Given the description of an element on the screen output the (x, y) to click on. 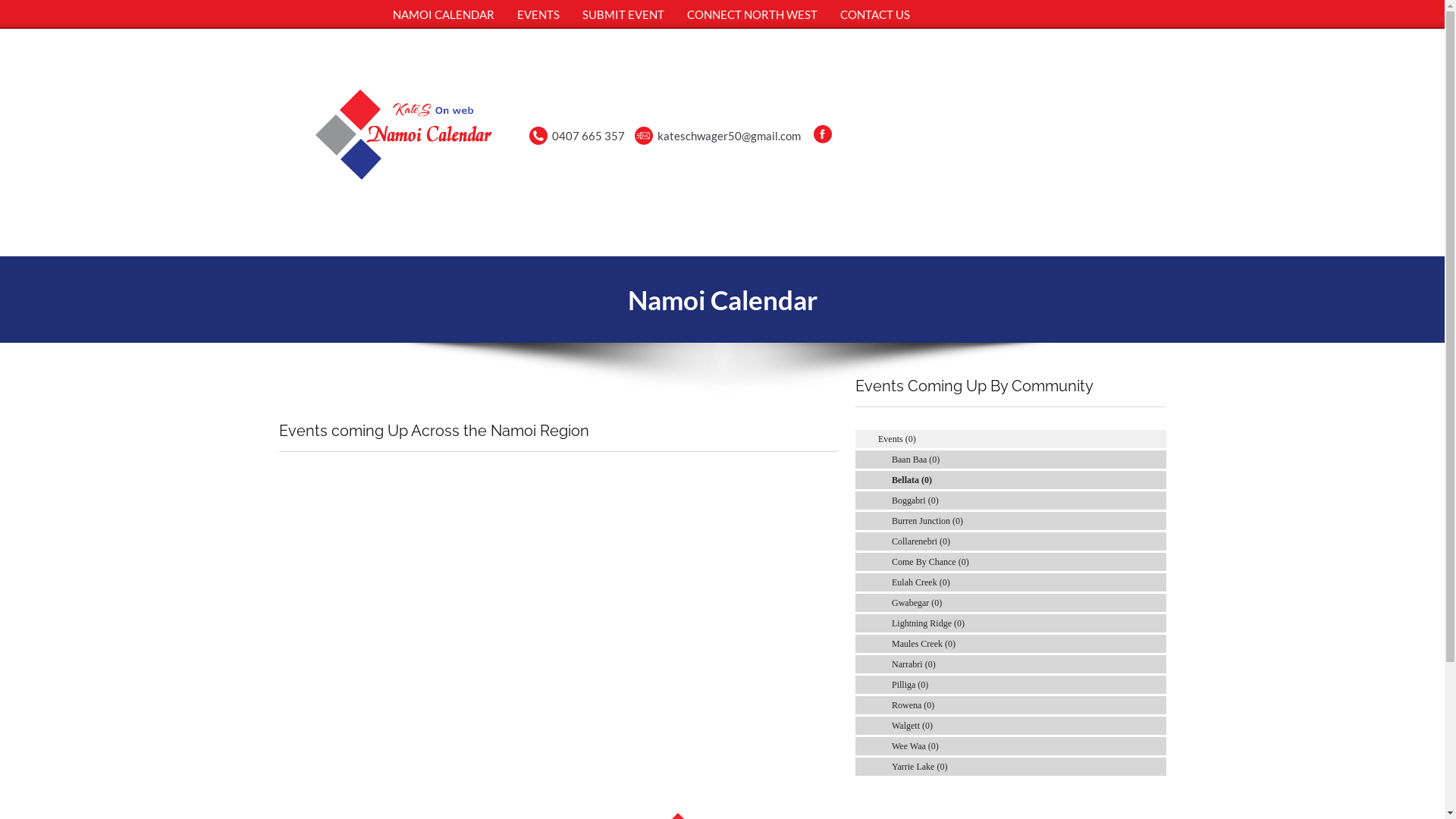
Collarenebri (0) Element type: text (920, 541)
CONTACT US Element type: text (874, 14)
RSS Element type: hover (1157, 561)
RSS Element type: hover (1157, 582)
Walgett (0) Element type: text (911, 725)
Rowena (0) Element type: text (912, 704)
Facebook Element type: hover (822, 134)
CONNECT NORTH WEST Element type: text (751, 14)
Wee Waa (0) Element type: text (914, 745)
RSS Element type: hover (1157, 520)
EVENTS Element type: text (537, 14)
Come By Chance (0) Element type: text (930, 561)
RSS Element type: hover (1157, 766)
RSS Element type: hover (1157, 479)
Burren Junction (0) Element type: text (927, 520)
SUBMIT EVENT Element type: text (622, 14)
RSS Element type: hover (1157, 459)
Gwabegar (0) Element type: text (916, 602)
NAMOI CALENDAR Element type: text (442, 14)
Baan Baa (0) Element type: text (915, 459)
Expand/Collapse Element type: hover (1142, 438)
Events (0) Element type: text (897, 438)
RSS Element type: hover (1157, 623)
RSS Element type: hover (1157, 704)
RSS Element type: hover (1157, 725)
Maules Creek (0) Element type: text (923, 643)
Bellata (0) Element type: text (911, 479)
RSS Element type: hover (1157, 663)
RSS Element type: hover (1157, 438)
0407 665 357 Element type: text (588, 135)
Boggabri (0) Element type: text (914, 500)
kateschwager50@gmail.com Element type: text (728, 135)
Lightning Ridge (0) Element type: text (927, 623)
RSS Element type: hover (1157, 684)
Eulah Creek (0) Element type: text (920, 582)
Narrabri (0) Element type: text (913, 663)
RSS Element type: hover (1157, 643)
Yarrie Lake (0) Element type: text (919, 766)
RSS Element type: hover (1157, 602)
RSS Element type: hover (1157, 745)
RSS Element type: hover (1157, 500)
RSS Element type: hover (1157, 541)
Pilliga (0) Element type: text (909, 684)
